Given the description of an element on the screen output the (x, y) to click on. 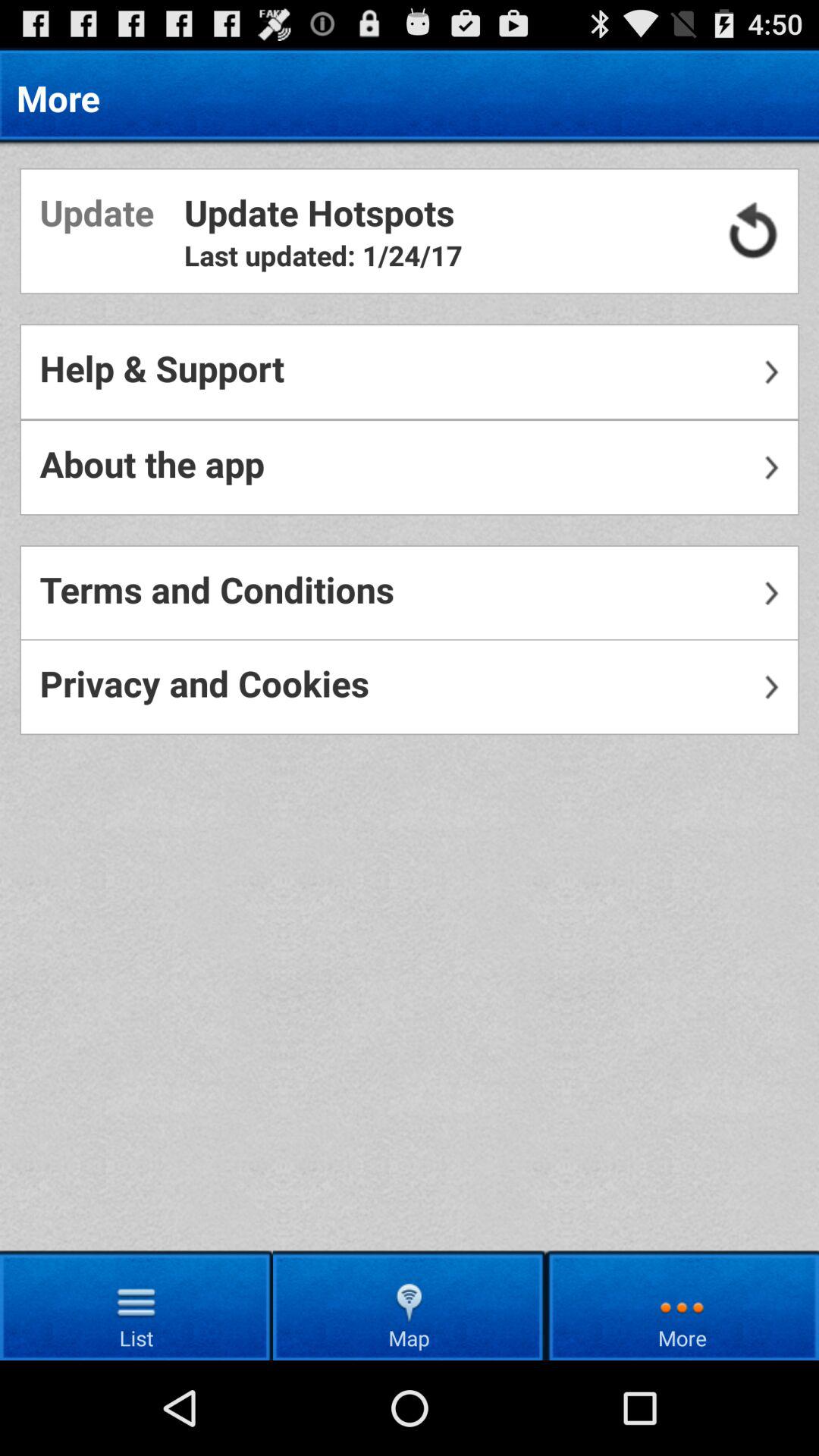
choose help & support icon (409, 371)
